Given the description of an element on the screen output the (x, y) to click on. 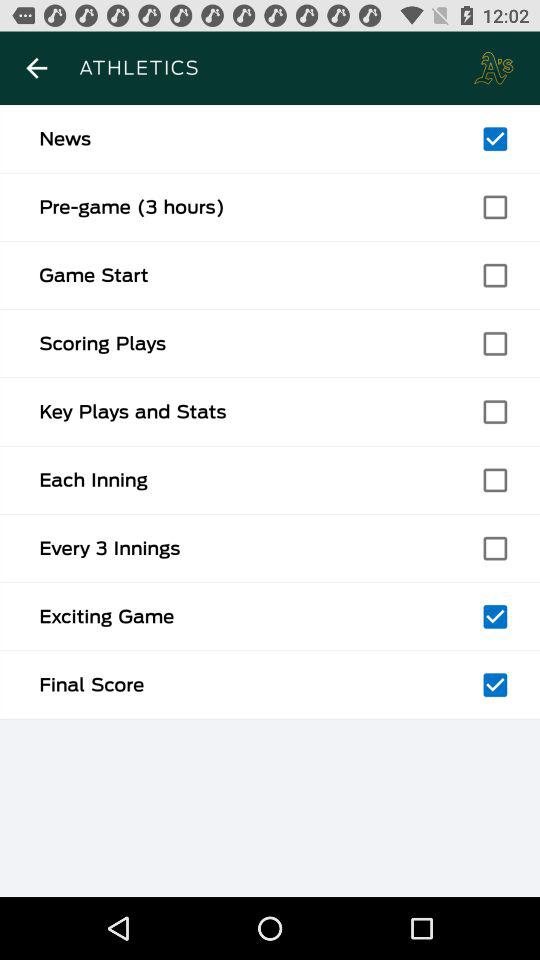
check every 3 innings box (495, 548)
